Given the description of an element on the screen output the (x, y) to click on. 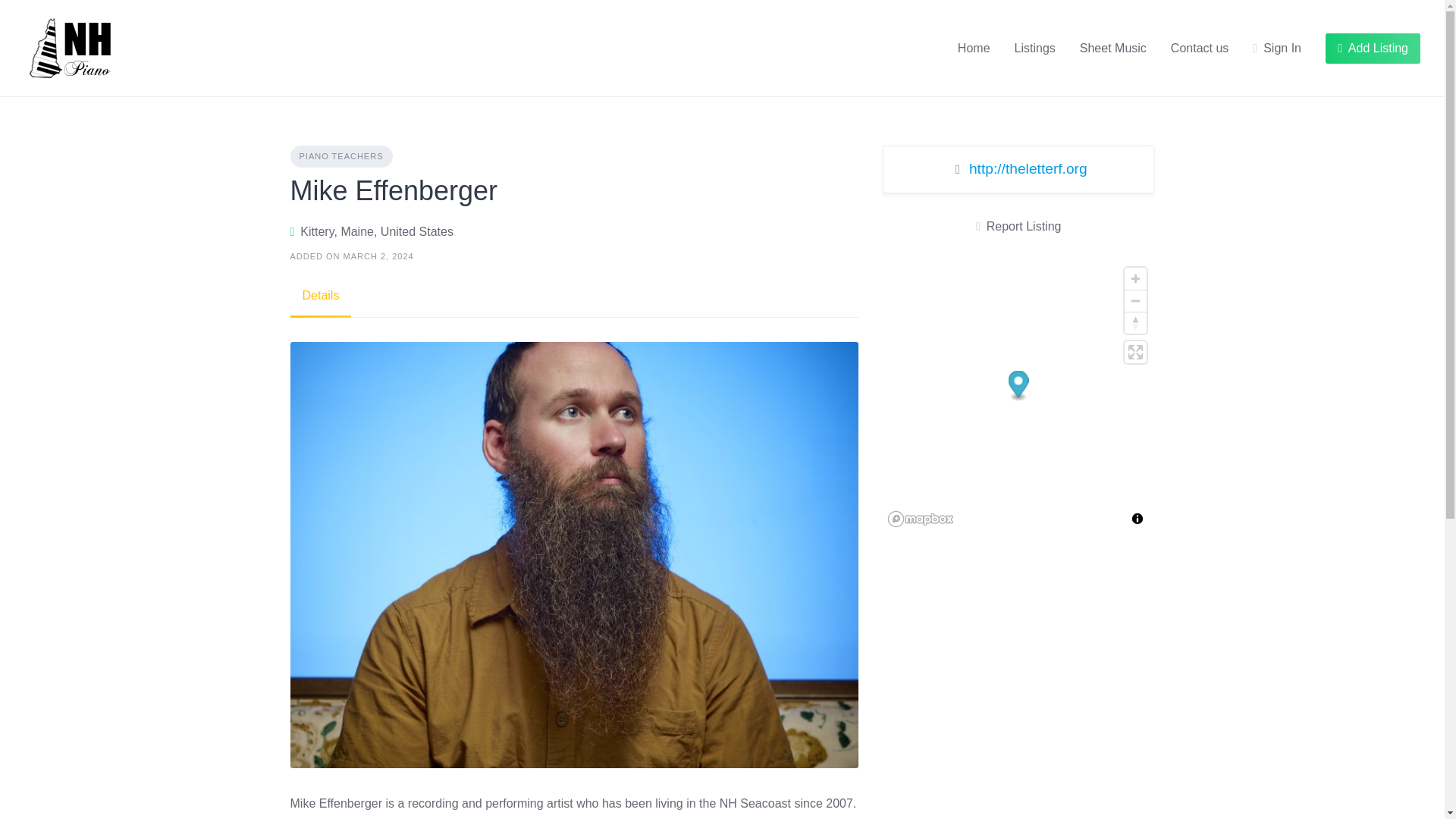
Enter fullscreen (1135, 352)
Reset bearing to north (1135, 322)
Contact us (1199, 48)
Listings (1034, 48)
Sheet Music (1113, 48)
Zoom out (1135, 301)
Sign In (1276, 48)
Report Listing (1018, 226)
PIANO TEACHERS (340, 156)
Zoom in (1135, 278)
Add Listing (1372, 48)
Home (974, 48)
Details (320, 295)
